Given the description of an element on the screen output the (x, y) to click on. 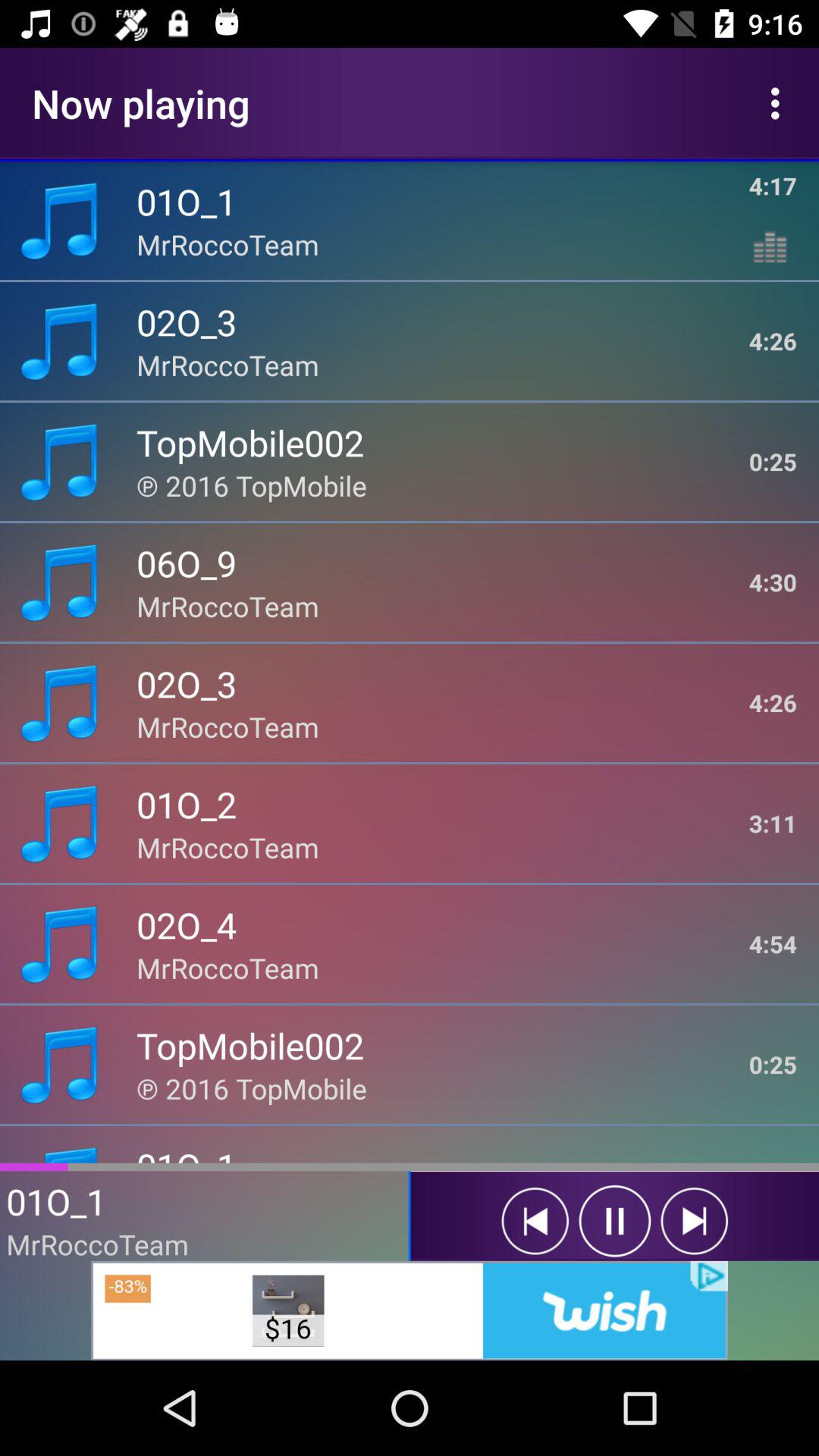
next song (694, 1220)
